Given the description of an element on the screen output the (x, y) to click on. 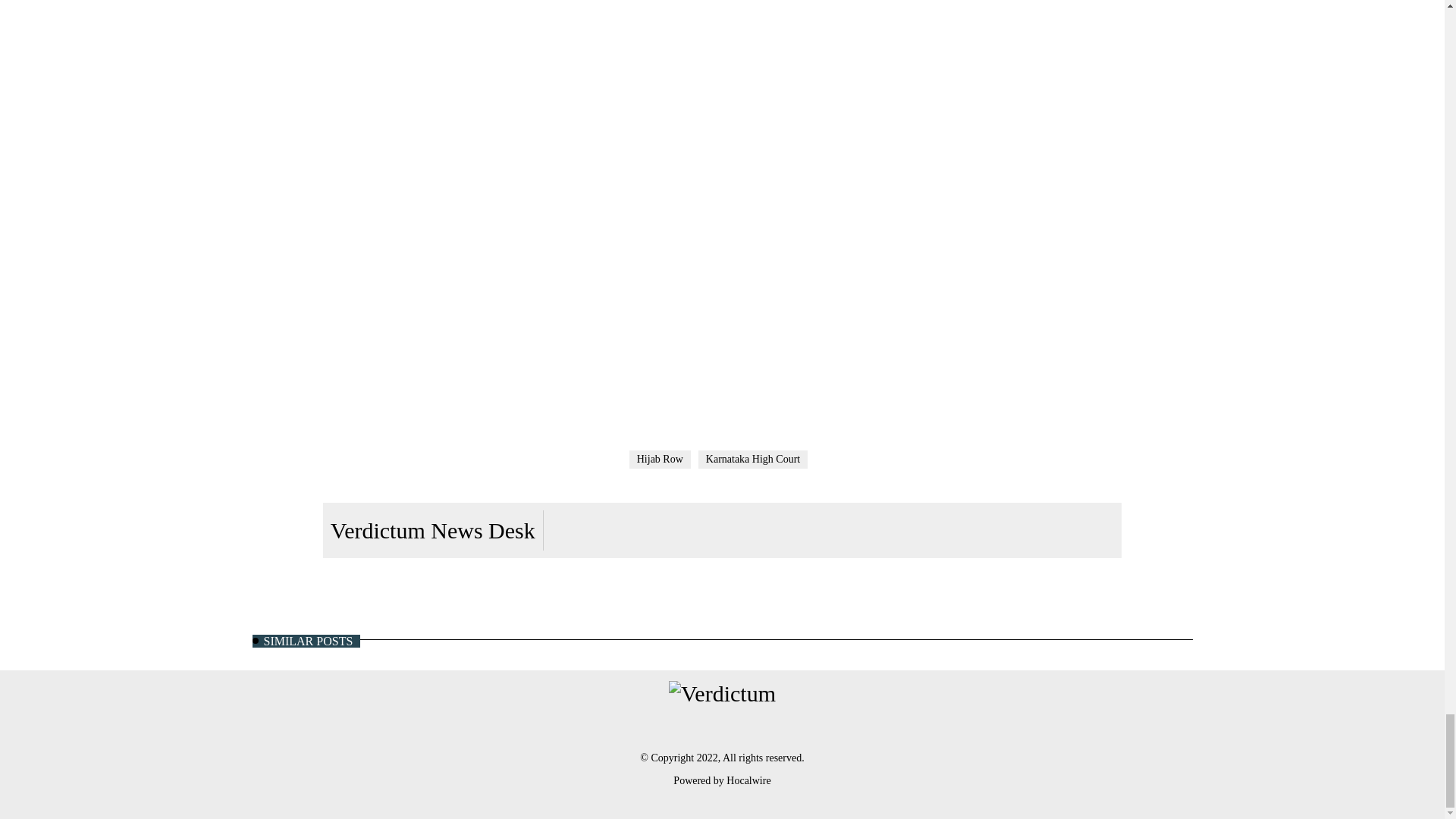
Verdictum (722, 692)
